Given the description of an element on the screen output the (x, y) to click on. 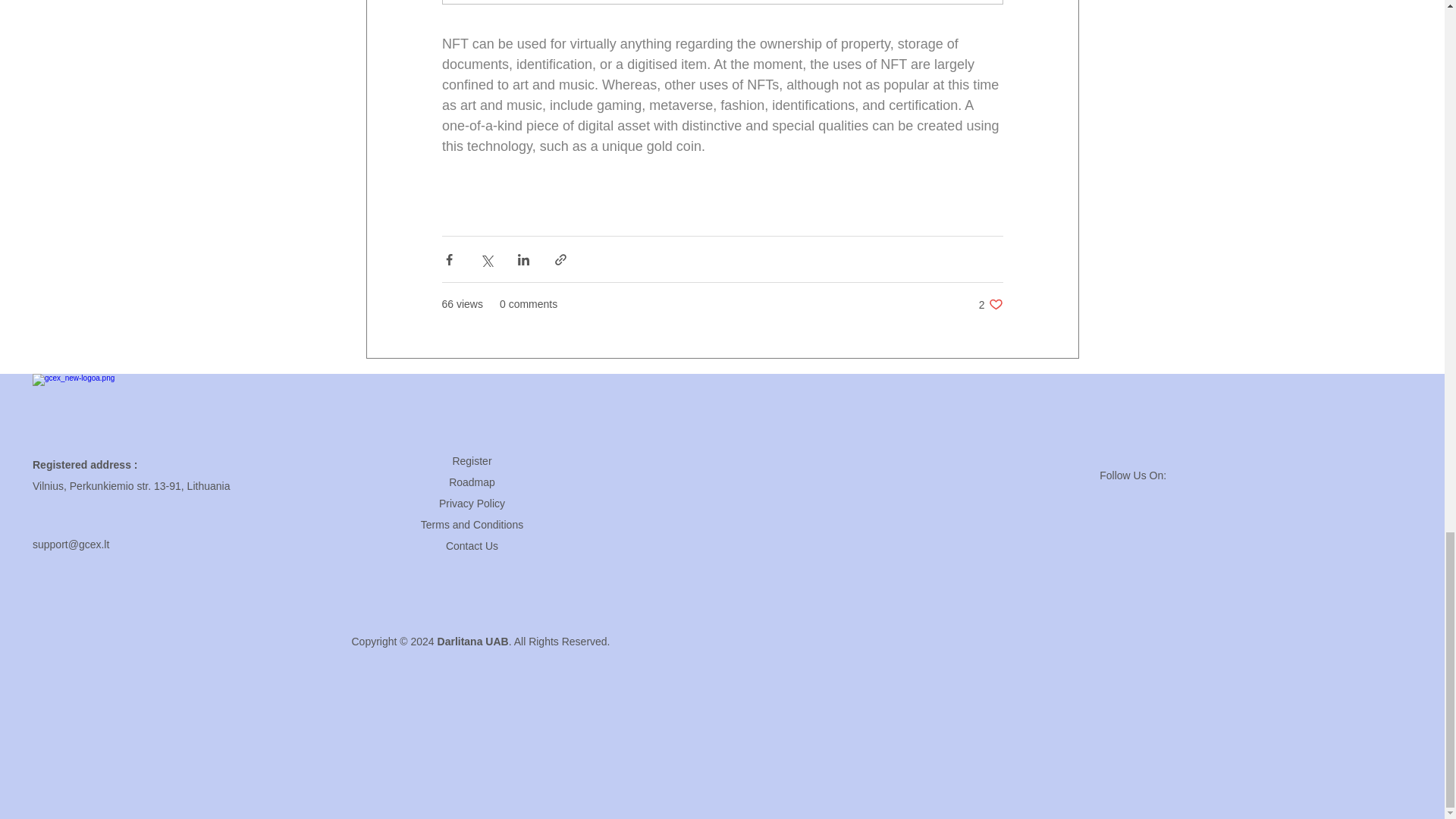
Privacy Policy (472, 503)
Terms and Conditions (471, 524)
gcpu.png (80, 407)
Roadmap (471, 481)
Contact Us (990, 304)
Register (471, 545)
